Given the description of an element on the screen output the (x, y) to click on. 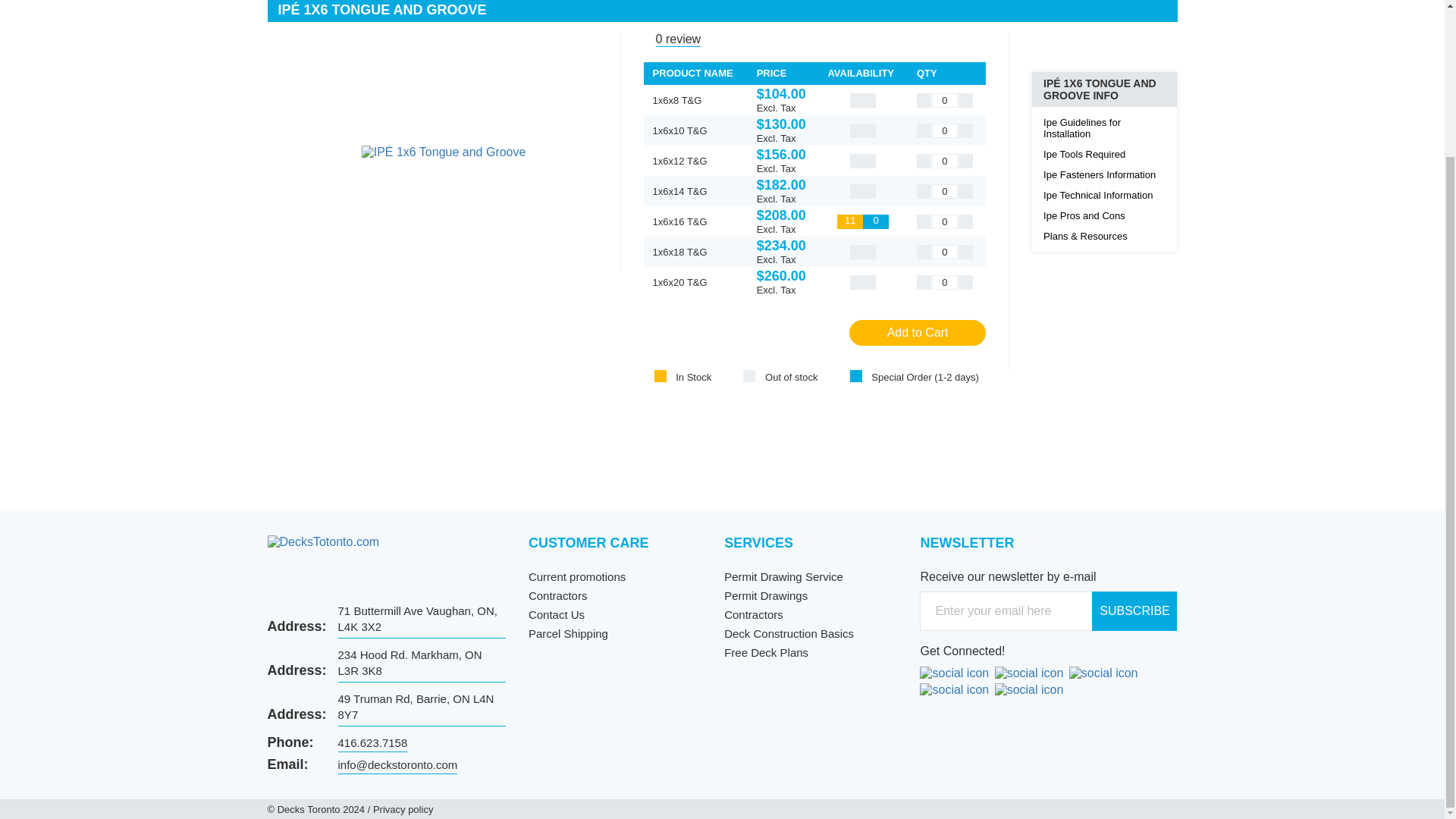
0 (944, 190)
0 (944, 160)
0 (944, 220)
0 (944, 129)
0 (944, 251)
0 (944, 99)
0 (944, 281)
